Given the description of an element on the screen output the (x, y) to click on. 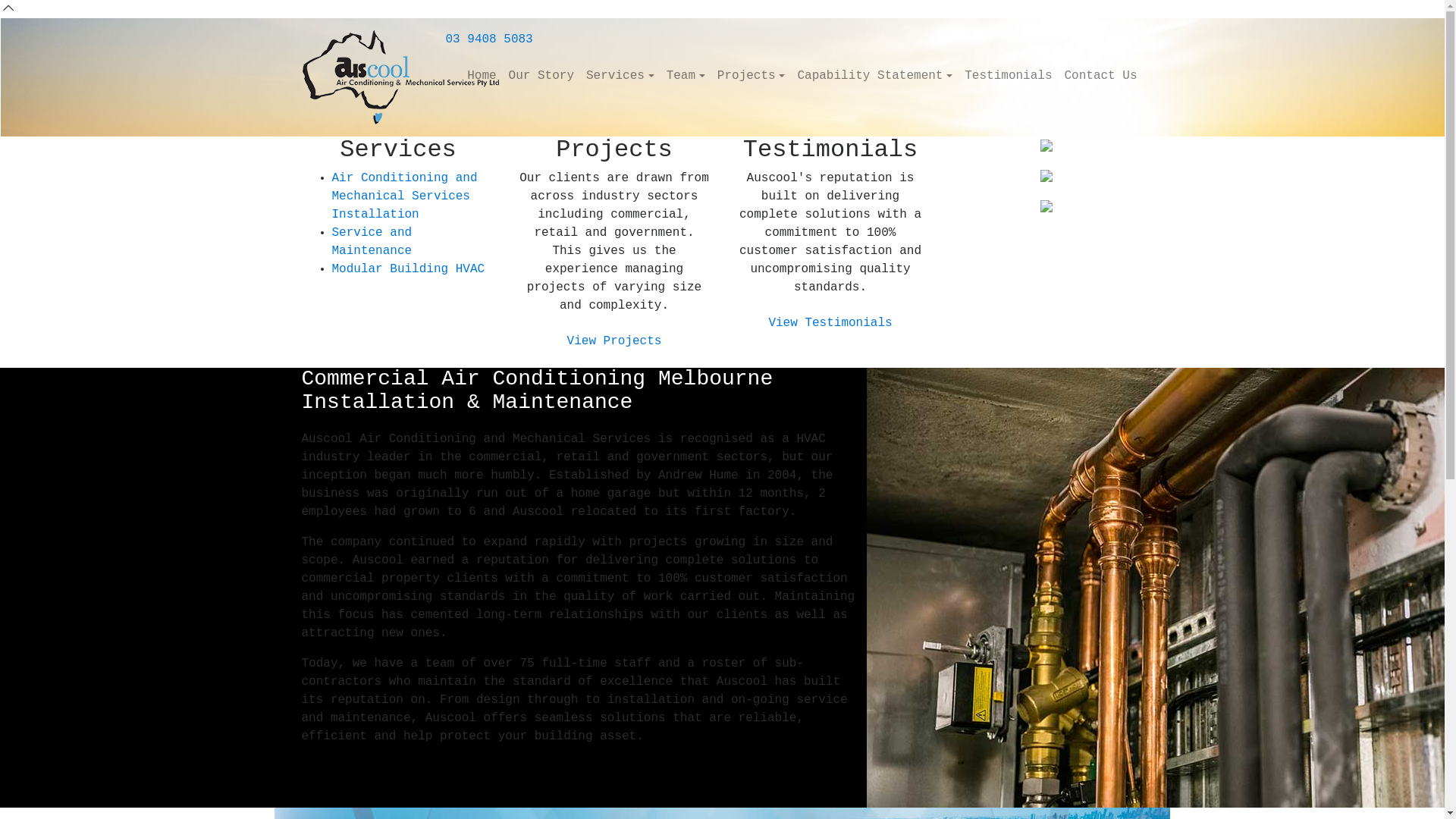
View Projects Element type: text (614, 340)
Contact Us Element type: text (1099, 75)
Modular Building HVAC Element type: text (408, 269)
Services Element type: text (620, 75)
Our Story Element type: text (541, 75)
View Testimonials Element type: text (829, 322)
Testimonials Element type: text (1007, 75)
Team Element type: text (685, 75)
Service and Maintenance Element type: text (372, 241)
Projects Element type: text (751, 75)
Air Conditioning and Mechanical Services Installation Element type: text (404, 196)
Capability Statement Element type: text (874, 75)
03 9408 5083 Element type: text (489, 39)
Home Element type: text (481, 75)
